Given the description of an element on the screen output the (x, y) to click on. 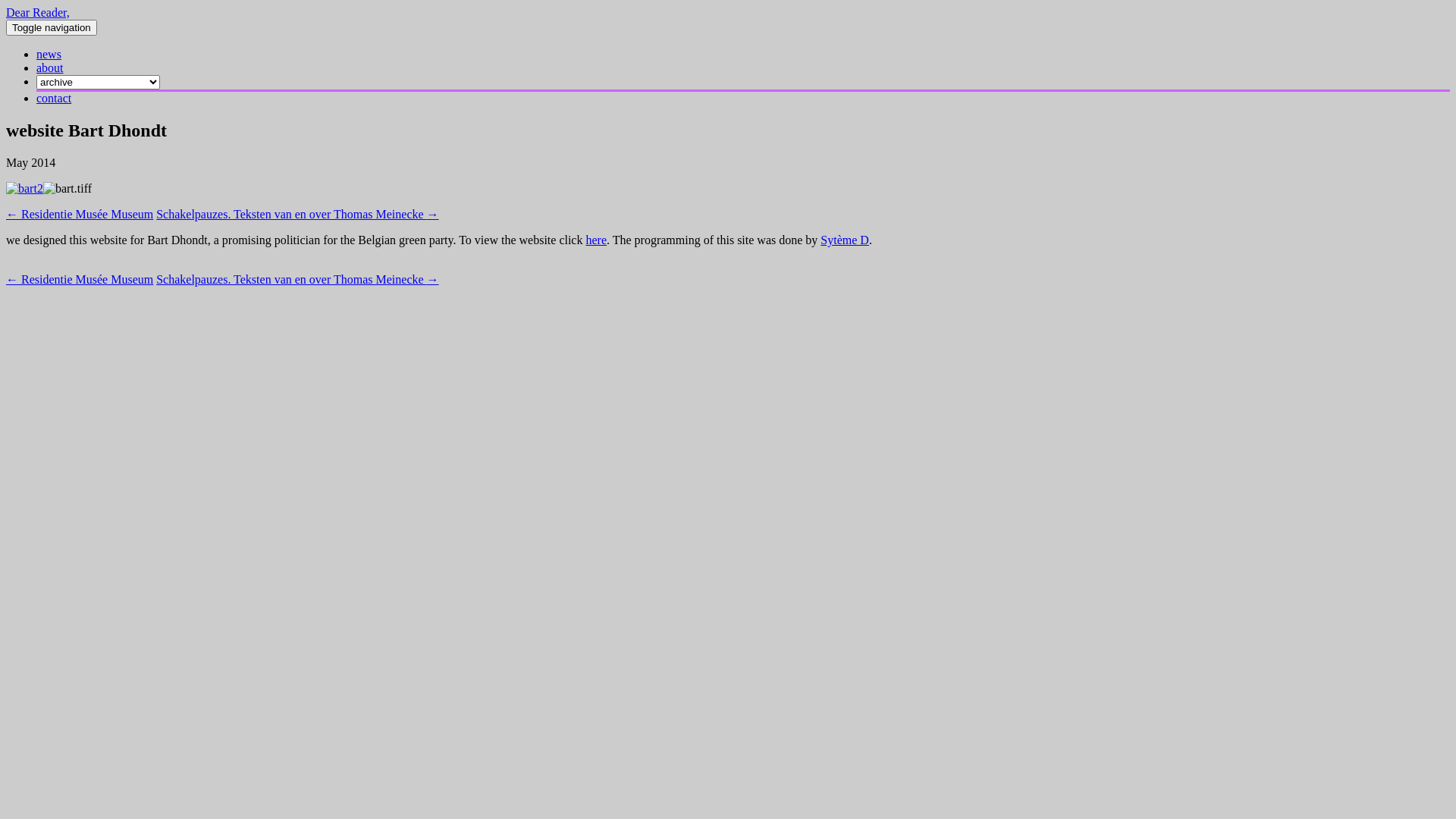
Dear Reader, Element type: text (37, 12)
news Element type: text (48, 53)
about Element type: text (49, 67)
here Element type: text (595, 239)
Toggle navigation Element type: text (51, 27)
contact Element type: text (53, 97)
